Given the description of an element on the screen output the (x, y) to click on. 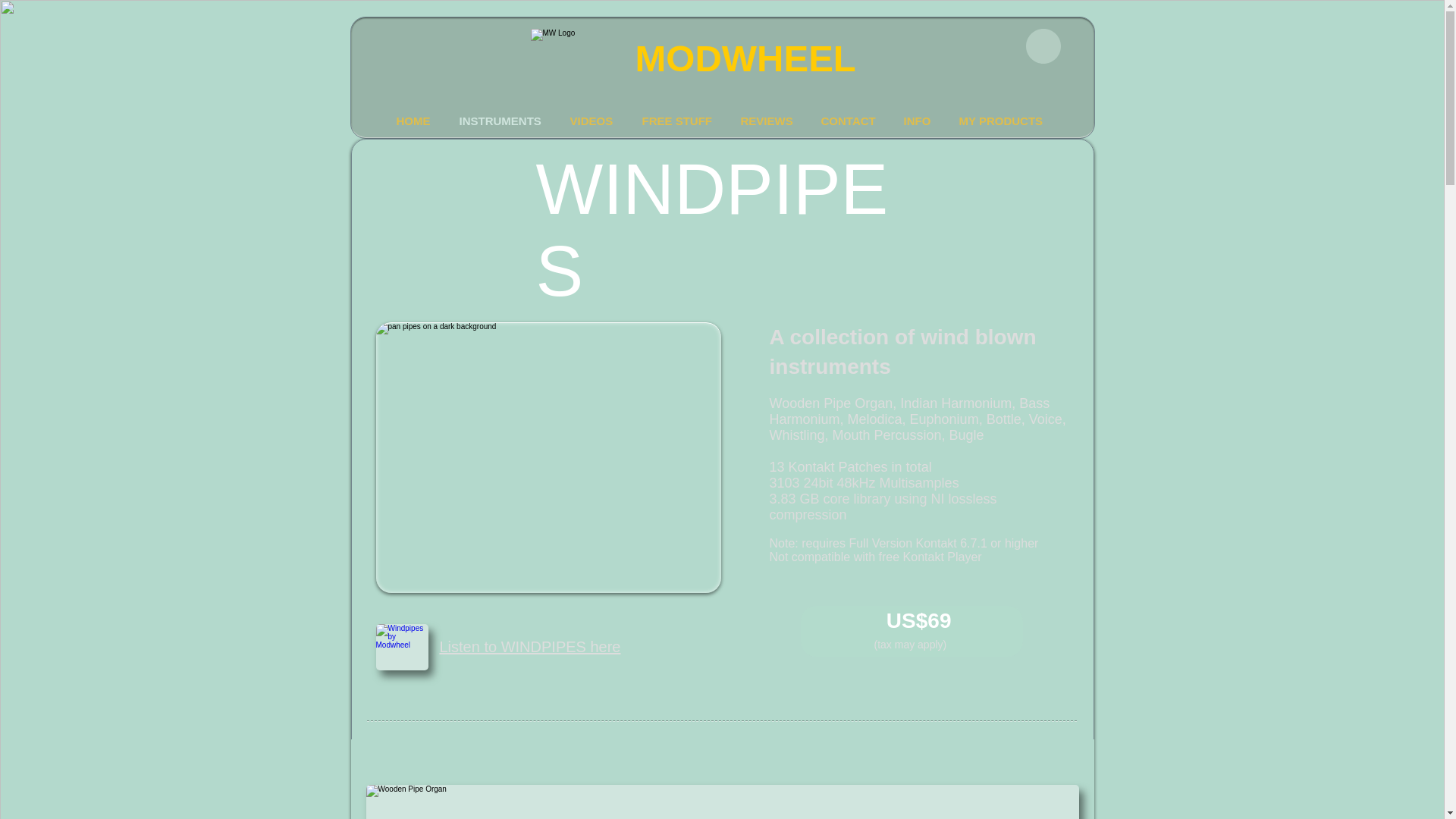
INSTRUMENTS (501, 121)
MY PRODUCTS (1003, 121)
Listen to WINDPIPES here (530, 646)
HOME (416, 121)
WINDPIPES - Wind Blown sounds for Kontakt (547, 457)
Wooden Pipe Organ from 1979 (721, 801)
Listen Here (401, 647)
FREE STUFF (679, 121)
REVIEWS (769, 121)
Modwheel (580, 59)
